Given the description of an element on the screen output the (x, y) to click on. 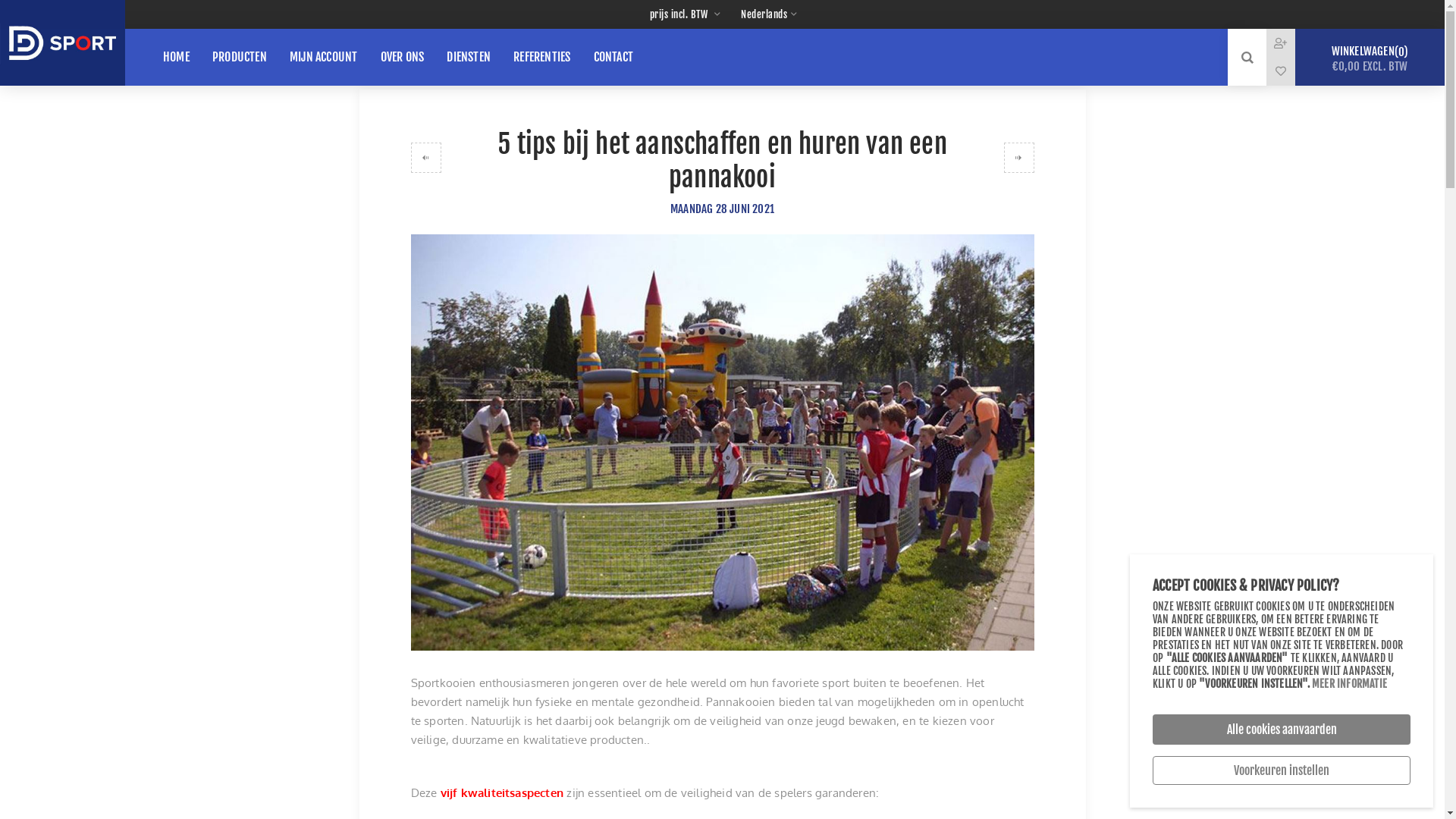
5 tips bij het aanschaffen en huren van een pannakooi Element type: hover (722, 442)
MEER INFORMATIE Element type: text (1348, 683)
TERUG NAAR ALLE BLOGBERICHTEN Element type: text (722, 69)
CONTACT Element type: text (613, 56)
Voorkeuren instellen Element type: text (1281, 770)
Search Element type: text (1246, 56)
HOME Element type: text (175, 56)
Alle cookies aanvaarden Element type: text (1281, 729)
OVER ONS Element type: text (402, 56)
DIENSTEN Element type: text (468, 56)
REFERENTIES Element type: text (541, 56)
MIJN ACCOUNT Element type: text (323, 56)
D&D SPORT - WINNING TEAM - UPDATE ! Element type: text (426, 157)
WINNAAR PRIJSVRAAG VOETBAL XPRT Element type: text (1019, 157)
